Given the description of an element on the screen output the (x, y) to click on. 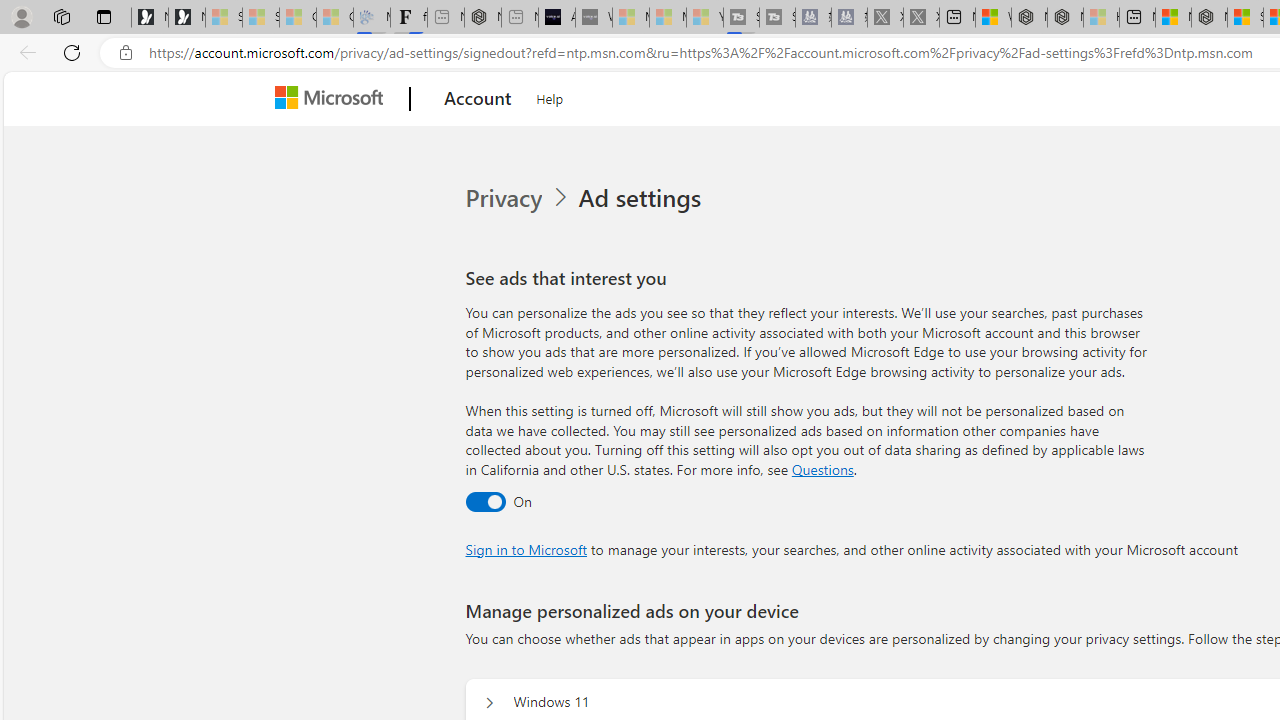
Microsoft (332, 99)
Wildlife - MSN (993, 17)
Help (550, 96)
Account (477, 99)
What's the best AI voice generator? - voice.ai - Sleeping (593, 17)
